Given the description of an element on the screen output the (x, y) to click on. 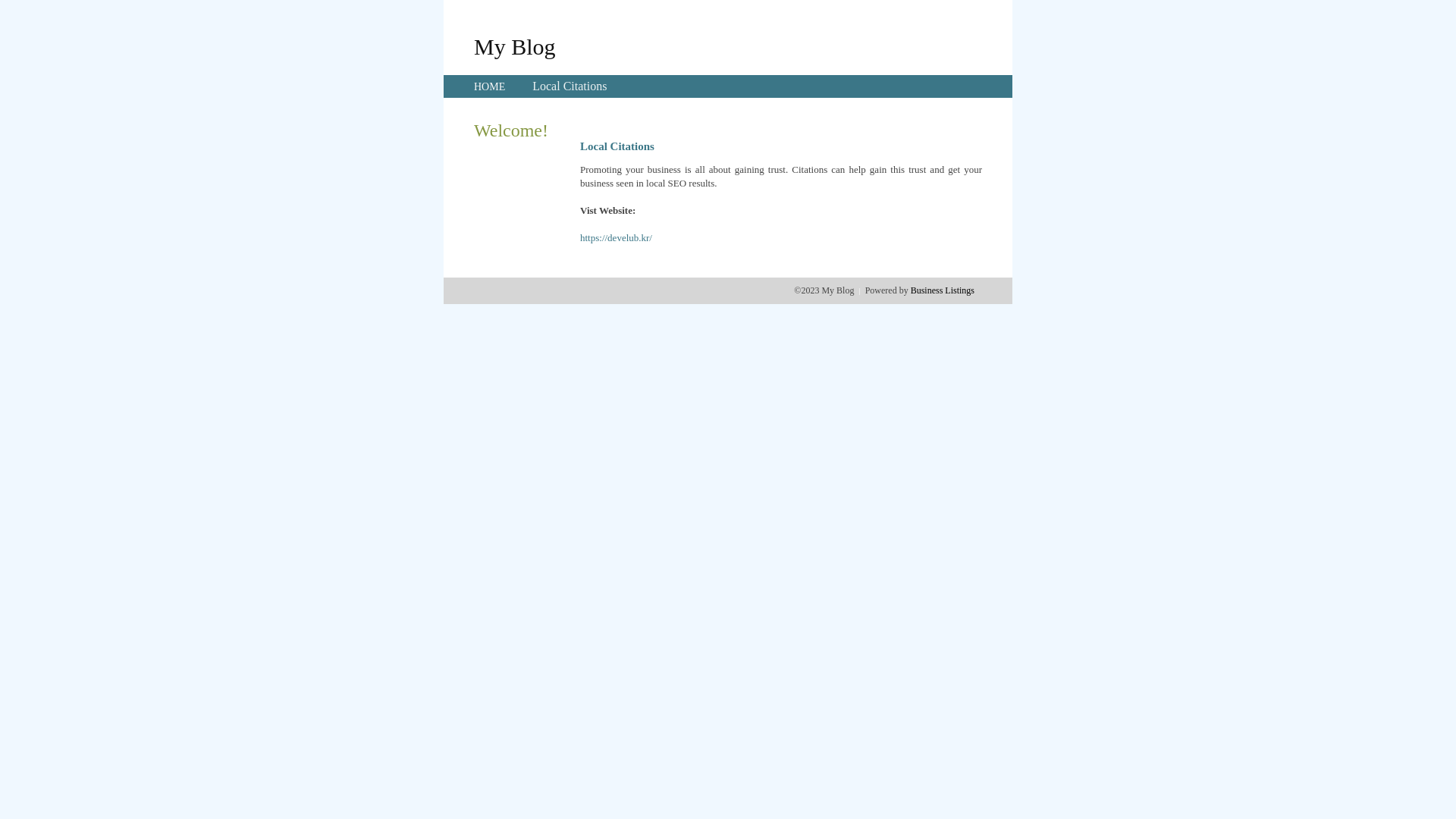
Business Listings Element type: text (942, 290)
Local Citations Element type: text (569, 85)
HOME Element type: text (489, 86)
My Blog Element type: text (514, 46)
https://develub.kr/ Element type: text (616, 237)
